Given the description of an element on the screen output the (x, y) to click on. 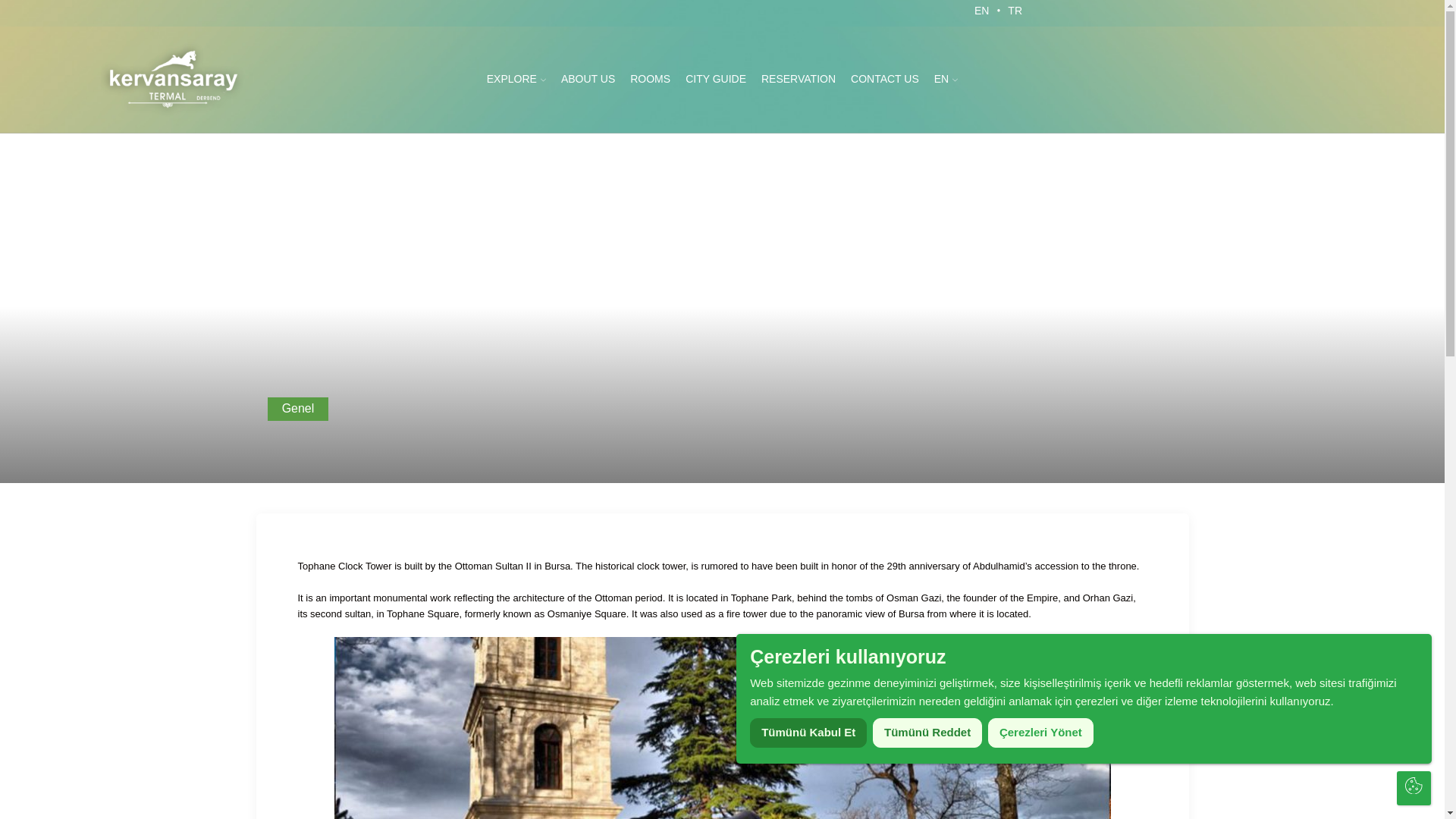
CONTACT US (884, 79)
EN (945, 79)
ROOMS (650, 79)
ABOUT US (588, 79)
EXPLORE (516, 79)
RESERVATION (798, 79)
CITY GUIDE (716, 79)
EN (980, 13)
TR (1014, 13)
